Given the description of an element on the screen output the (x, y) to click on. 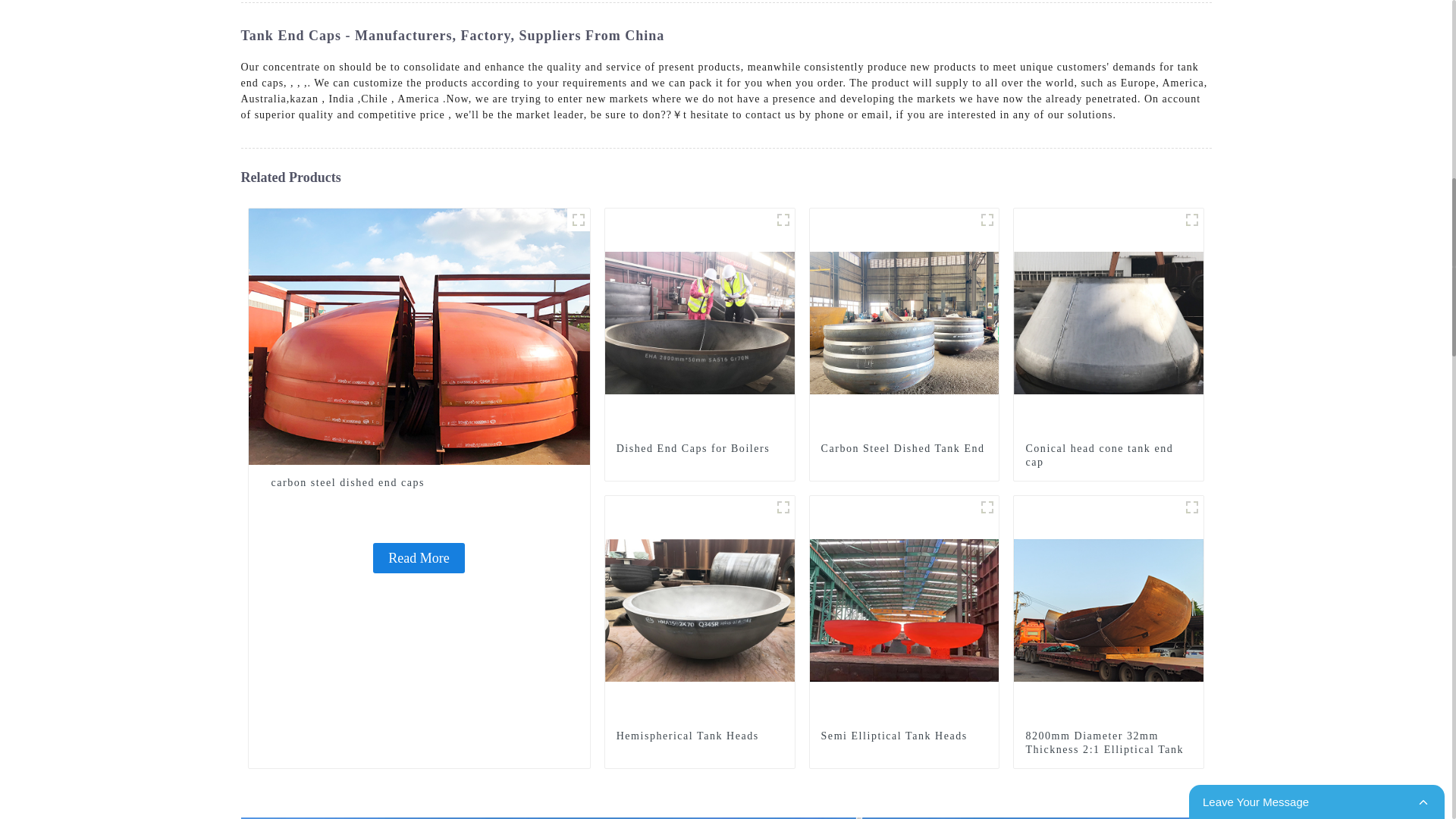
Read More (418, 557)
Hemispherical Tank Heads (699, 609)
carbon steel dished end caps (418, 482)
carbon steel dished end caps (418, 335)
Semi Elliptical Tank Heads (903, 609)
carbon steel dished end caps (418, 557)
Conical head cone tank end cap (1108, 321)
Dish end caps (782, 219)
semi elliptical tank heads-300x225 (986, 507)
Dished End Caps for Boilers (699, 321)
